Given the description of an element on the screen output the (x, y) to click on. 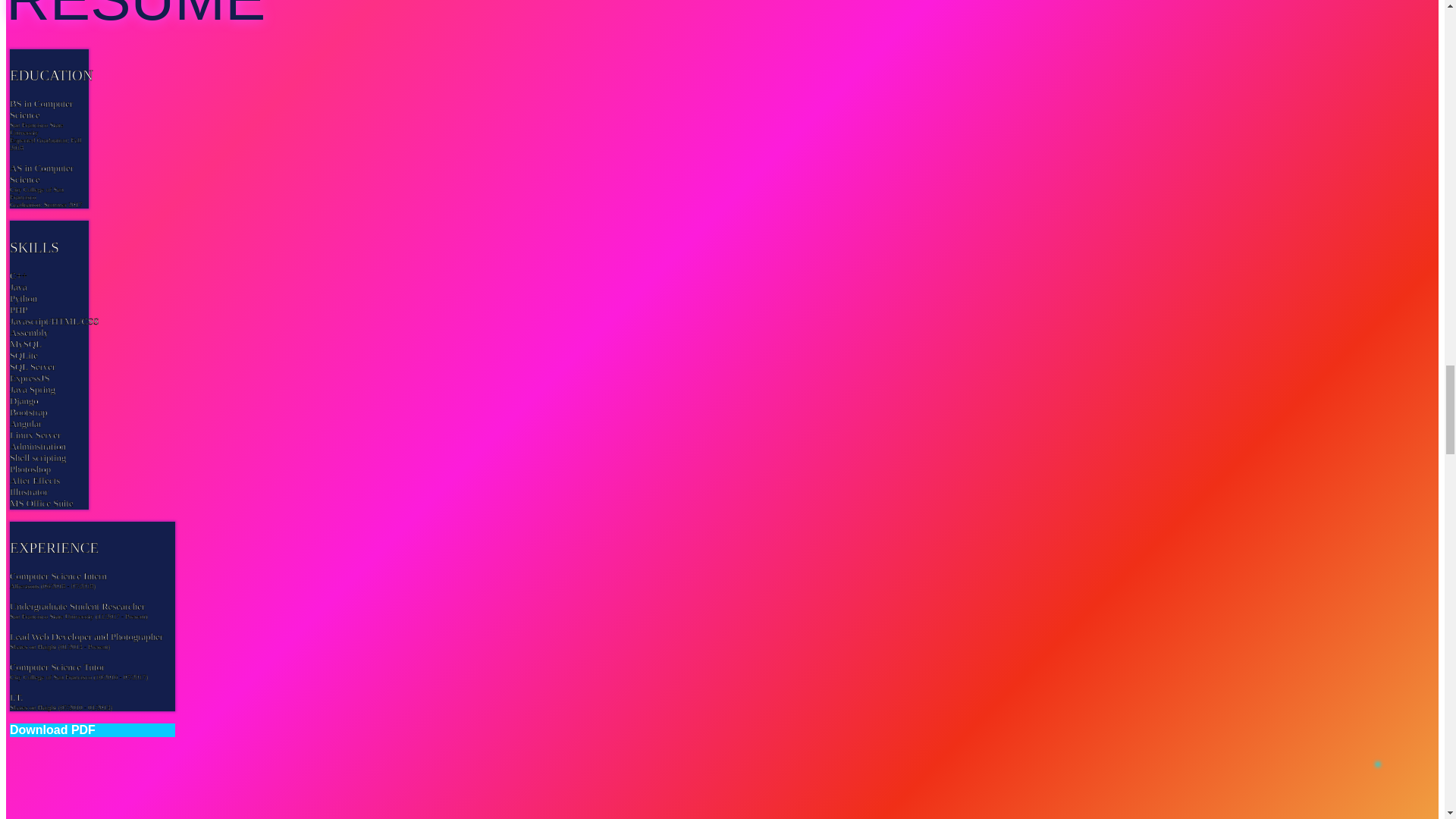
Download PDF (92, 730)
